Given the description of an element on the screen output the (x, y) to click on. 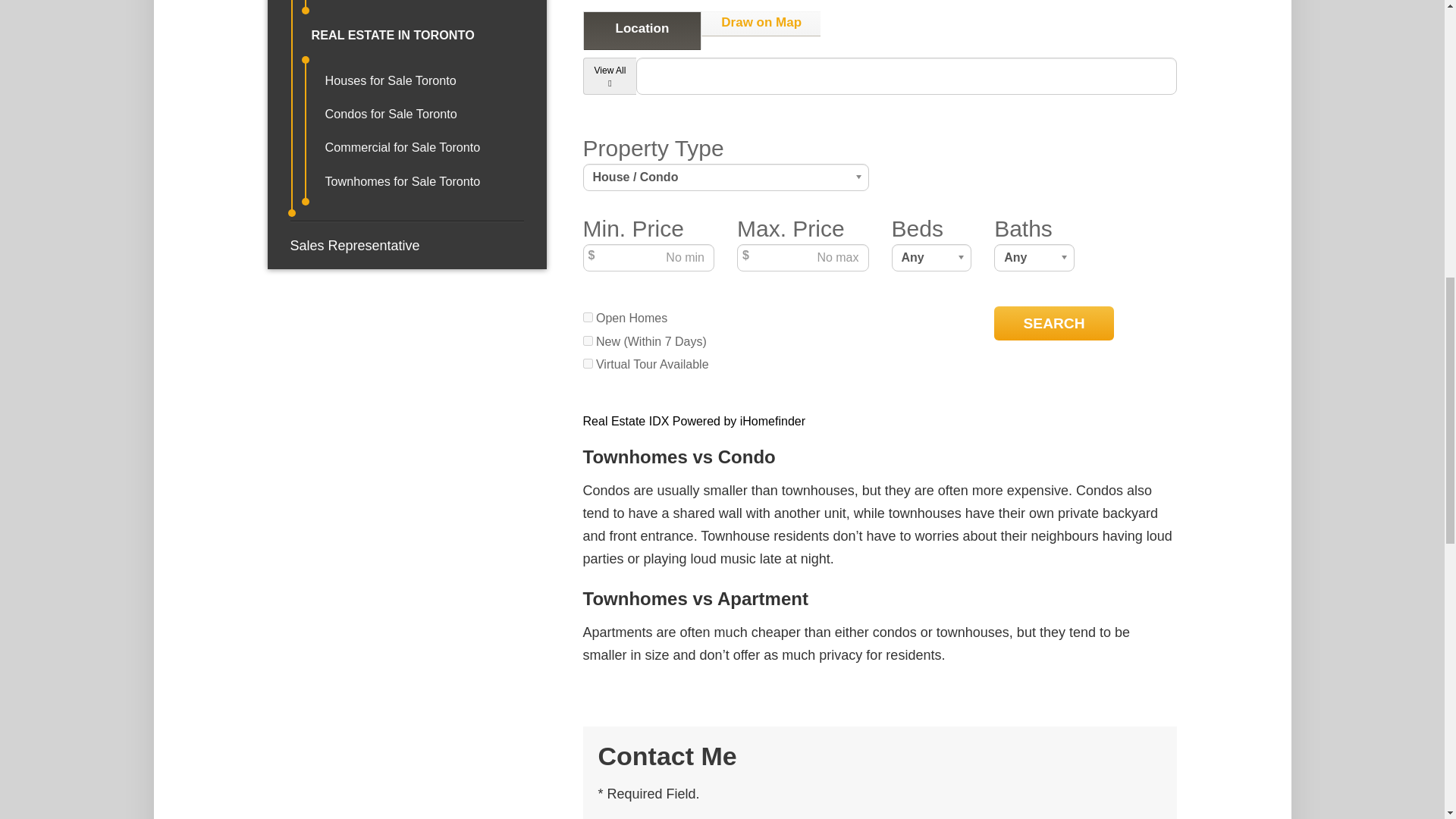
true (587, 363)
7 (587, 340)
true (587, 317)
